Given the description of an element on the screen output the (x, y) to click on. 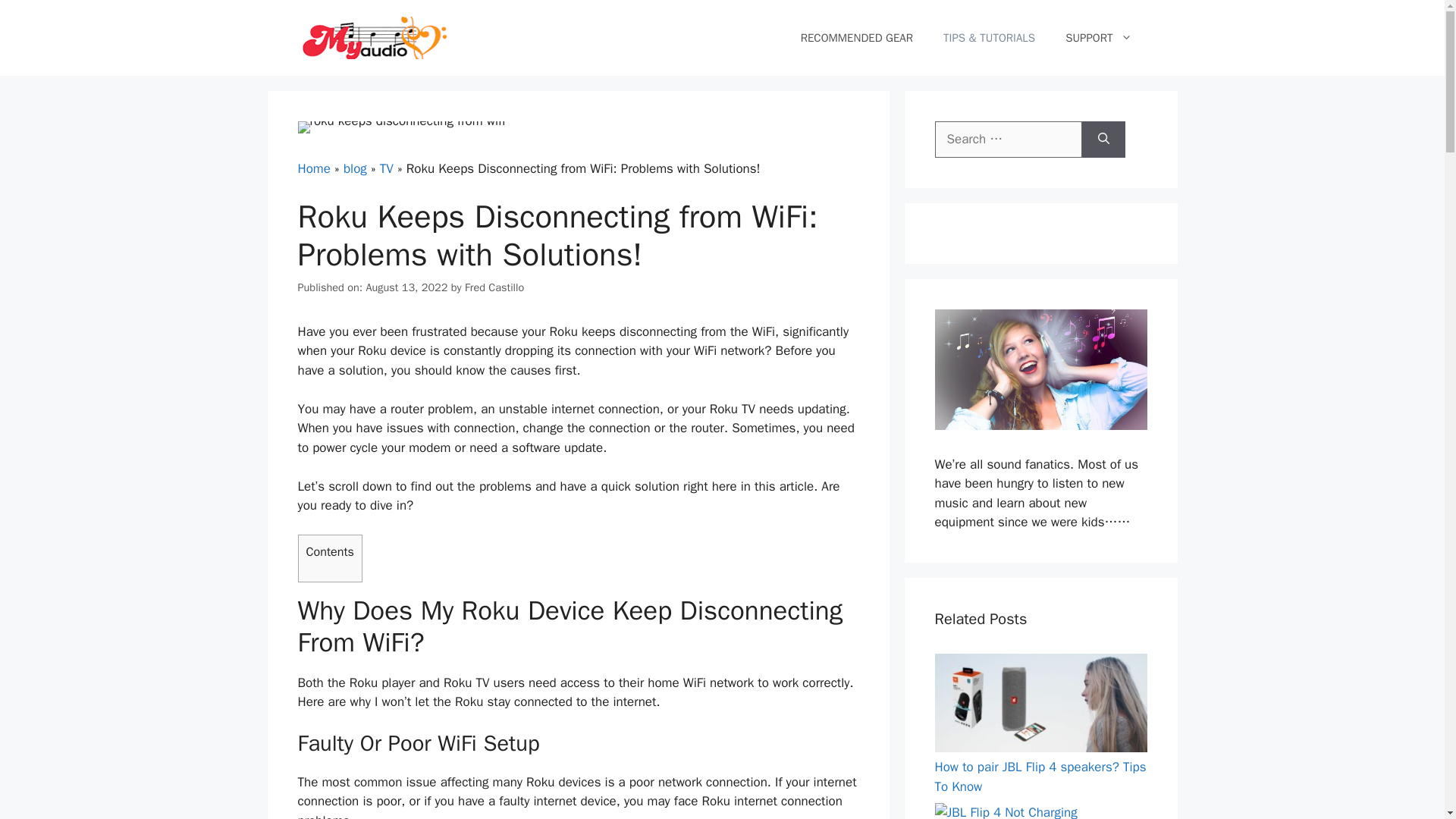
Best Wireless Speakers (1040, 425)
RECOMMENDED GEAR (857, 37)
JBL Flip 4 Not Charging, How To Fix It (1005, 811)
Search for: (1007, 139)
blog (354, 168)
SUPPORT (1098, 37)
How to pair JBL Flip 4 speakers? Tips To Know (1039, 776)
How to pair JBL Flip 4 speakers? Tips To Know (1039, 776)
Home (313, 168)
How to pair JBL Flip 4 speakers? Tips To Know (1040, 747)
